Given the description of an element on the screen output the (x, y) to click on. 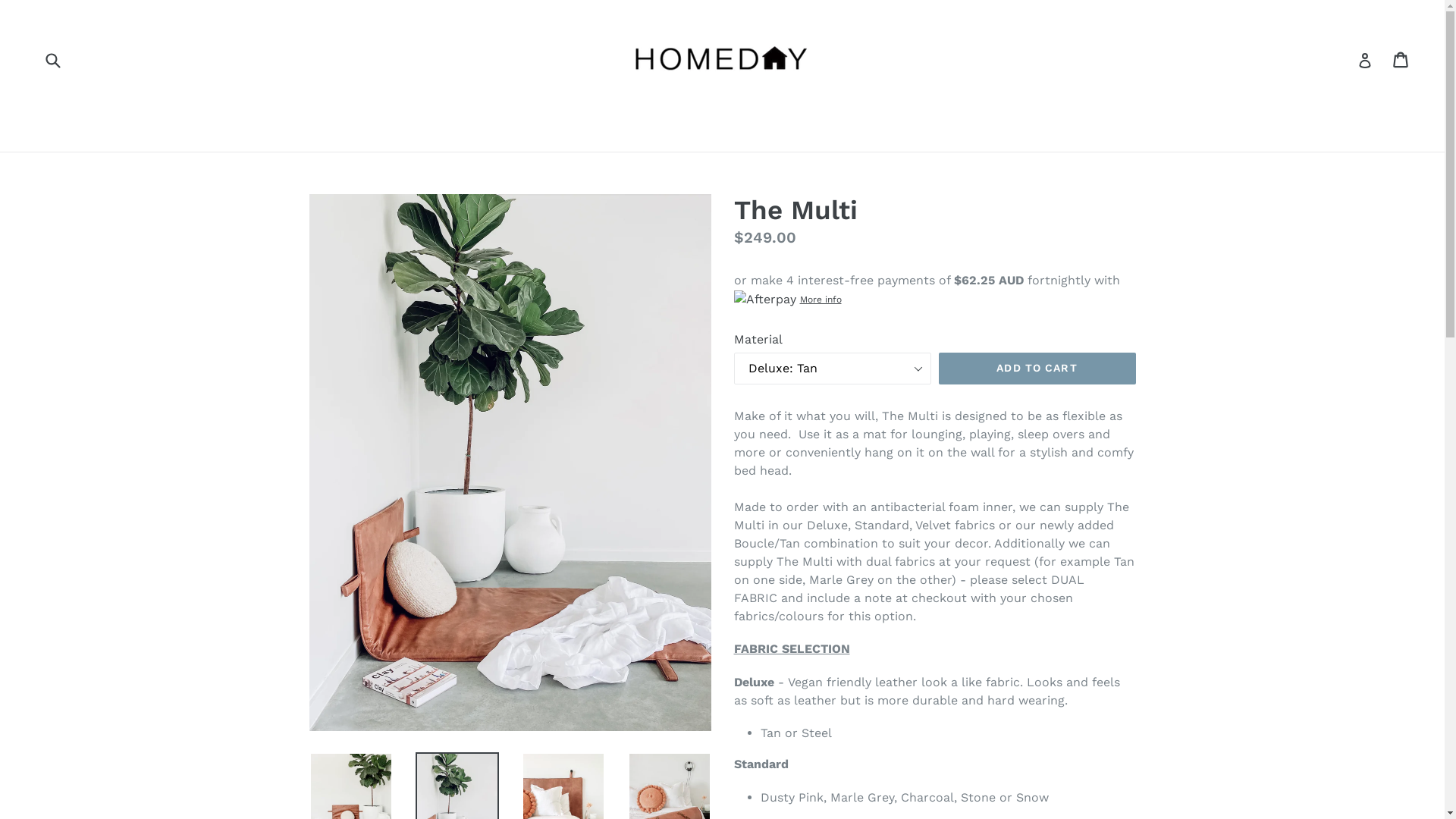
Log in Element type: text (1364, 59)
More info Element type: text (787, 298)
Submit Element type: text (51, 59)
Cart
Cart Element type: text (1401, 59)
ADD TO CART Element type: text (1036, 368)
